Given the description of an element on the screen output the (x, y) to click on. 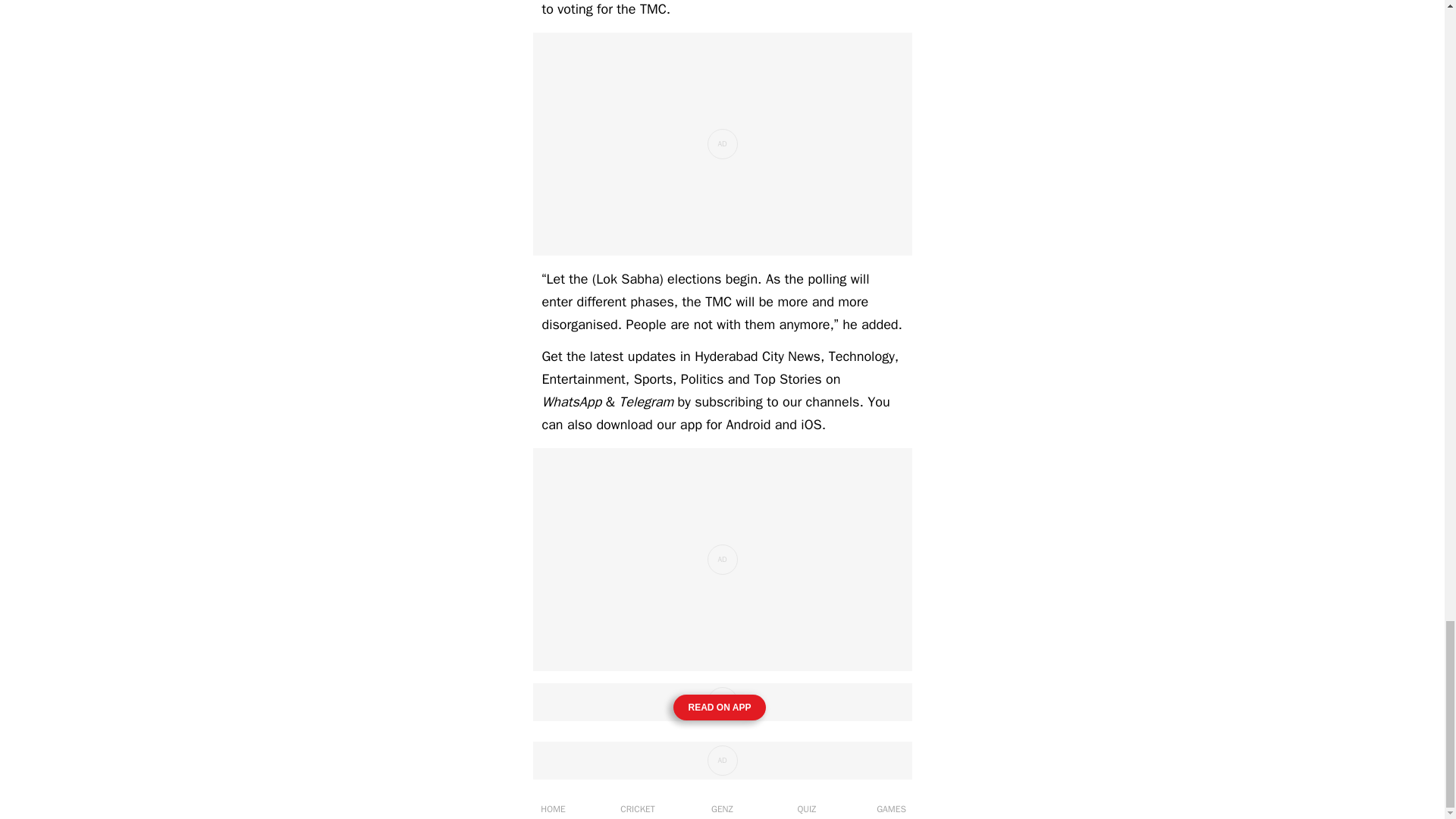
Top Stories (788, 379)
Technology (861, 356)
Hyderabad City News (757, 356)
Politics (702, 379)
Telegram (645, 401)
Android (747, 424)
WhatsApp (571, 401)
Sports (652, 379)
iOS (810, 424)
Entertainment (582, 379)
